Given the description of an element on the screen output the (x, y) to click on. 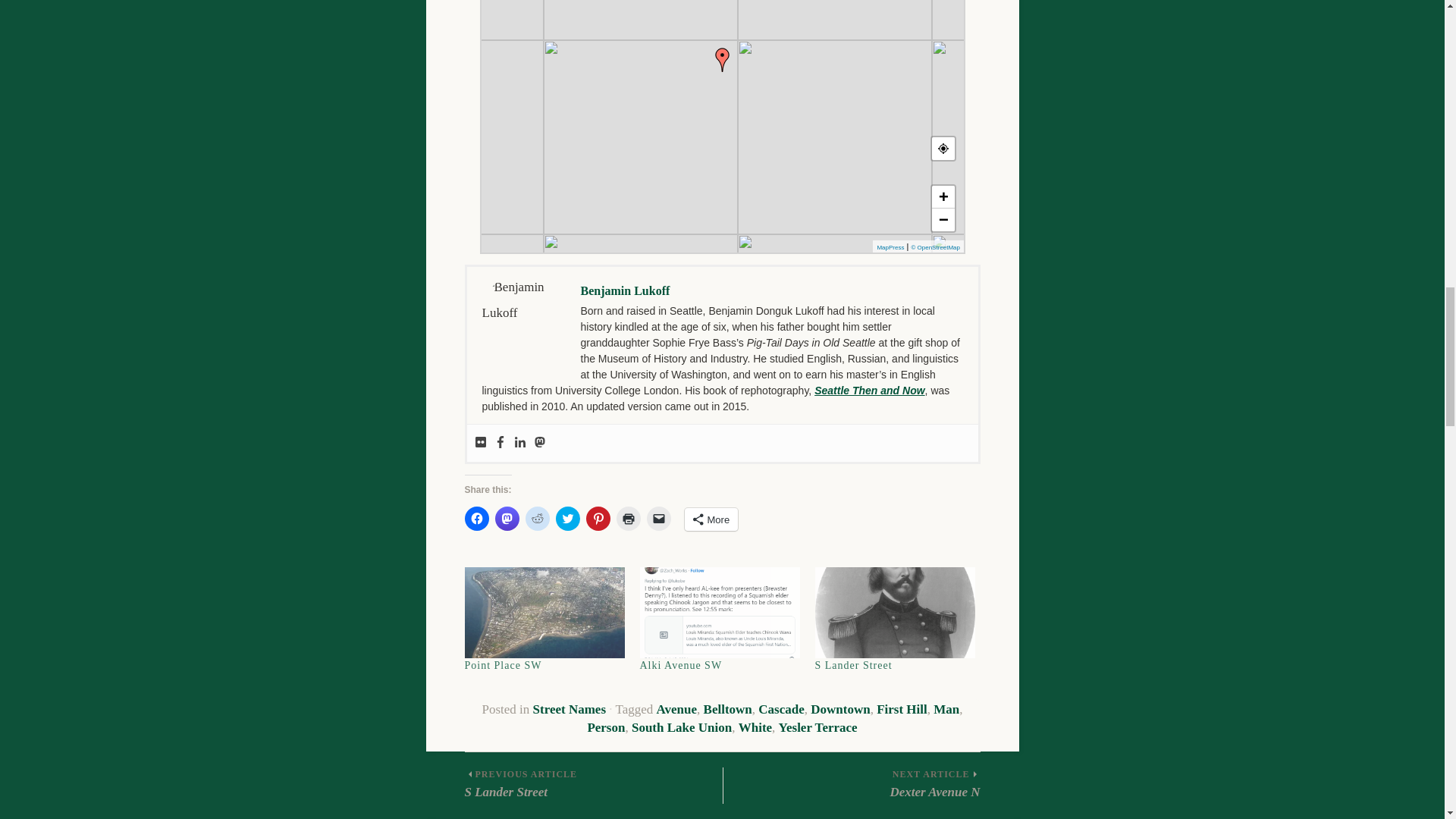
Flickr (480, 442)
Seattle Then and Now (868, 390)
Linkedin (519, 442)
Benjamin Lukoff (624, 290)
Click to share on Facebook (475, 518)
Facebook (500, 442)
Mastodont (540, 442)
